Given the description of an element on the screen output the (x, y) to click on. 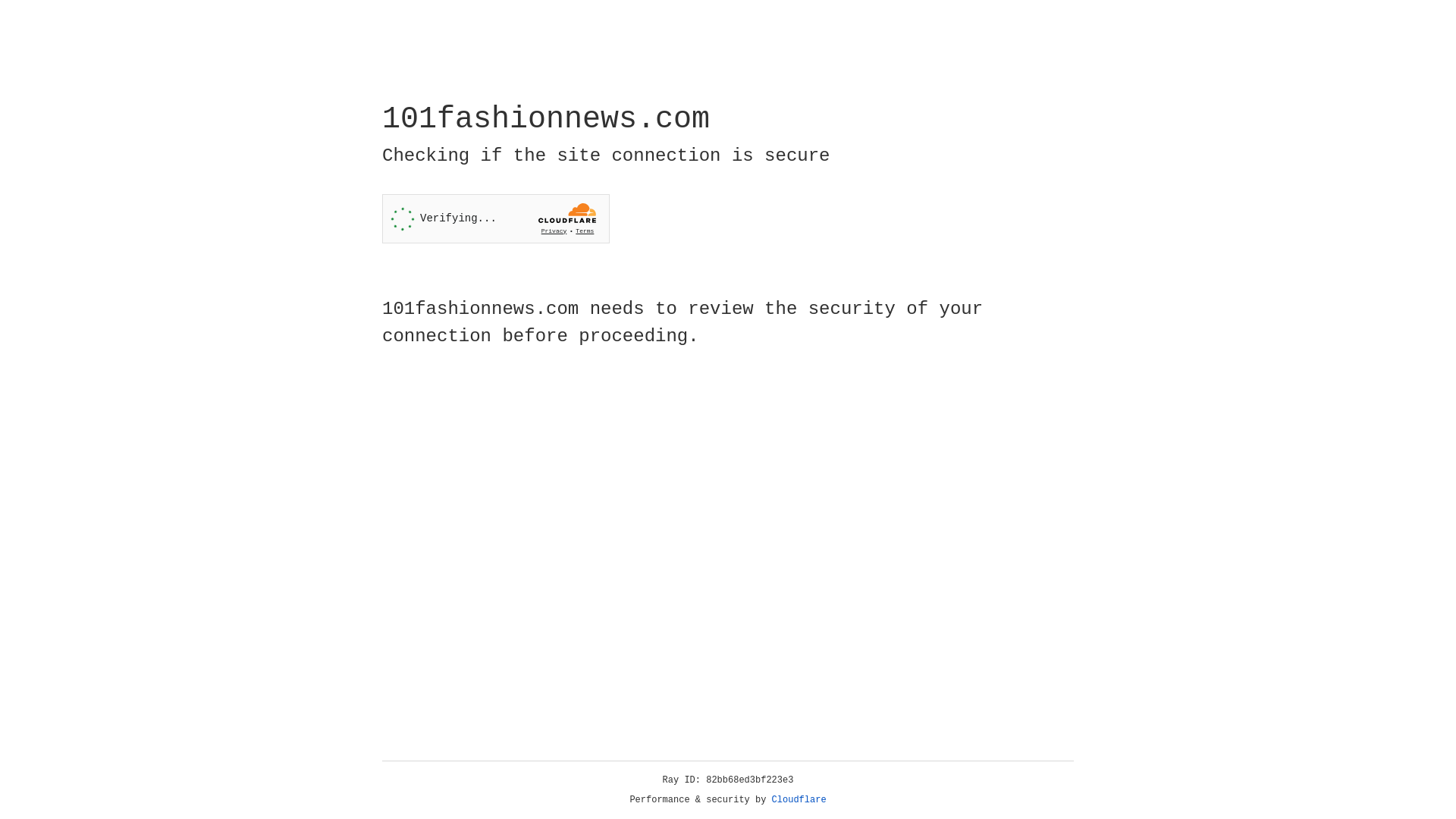
Cloudflare Element type: text (798, 799)
Widget containing a Cloudflare security challenge Element type: hover (495, 218)
